Given the description of an element on the screen output the (x, y) to click on. 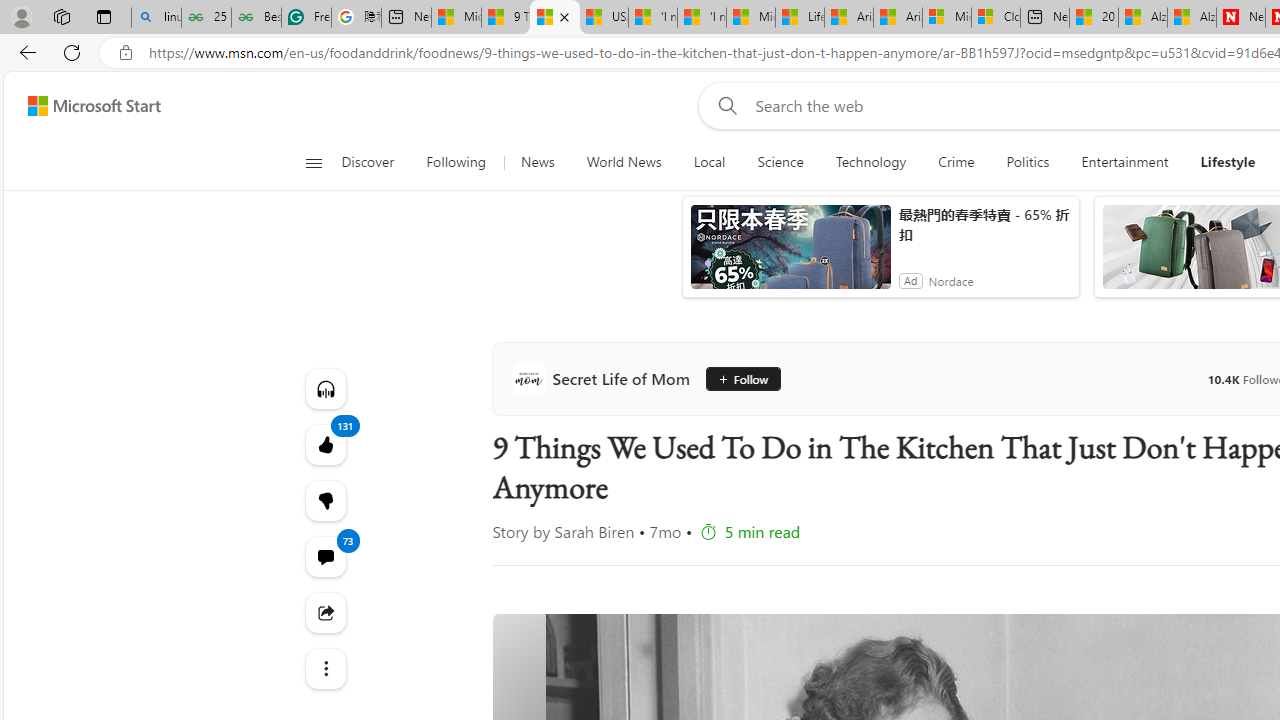
Newsweek - News, Analysis, Politics, Business, Technology (1240, 17)
131 Like (324, 444)
